Given the description of an element on the screen output the (x, y) to click on. 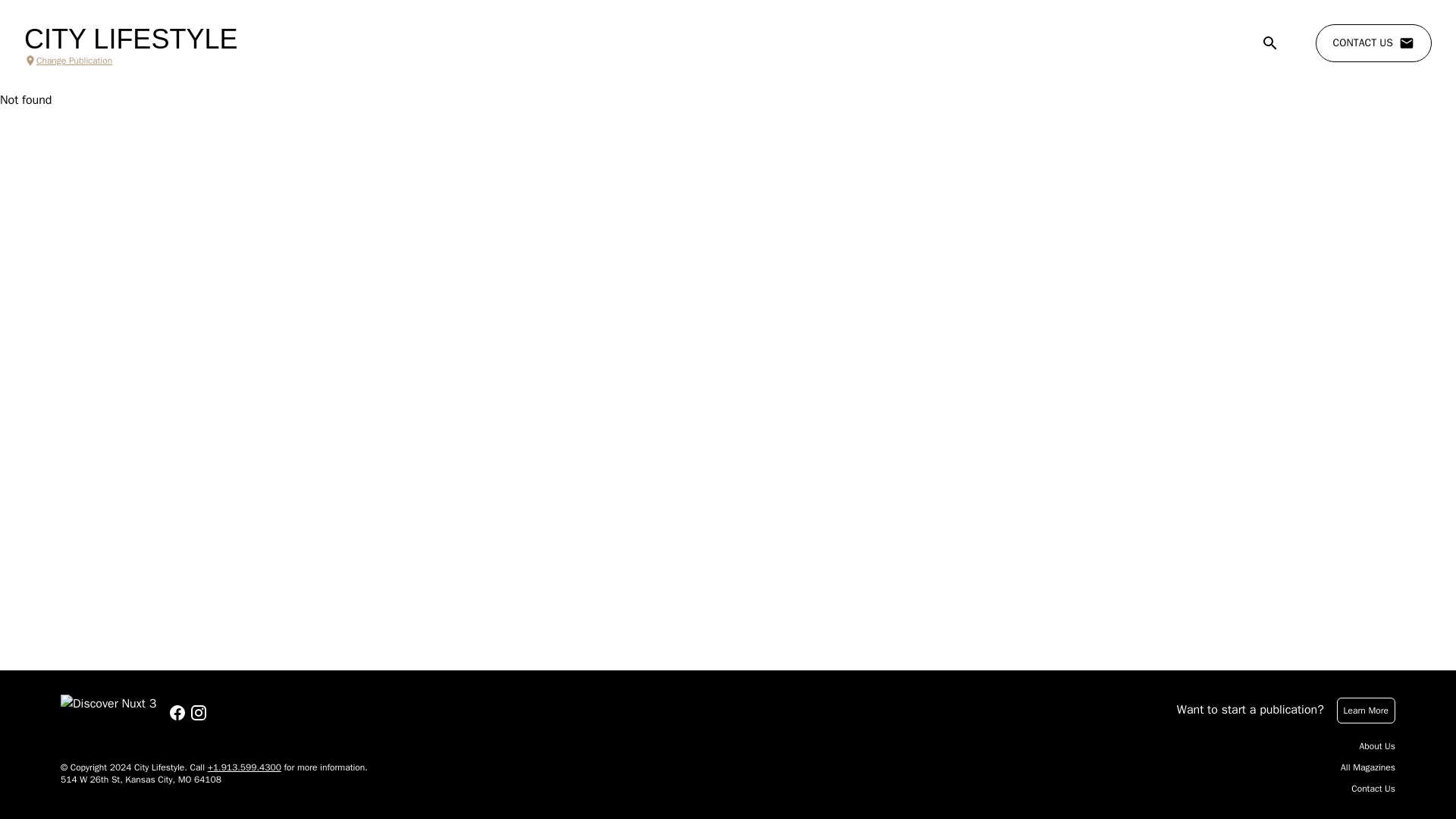
All Magazines (1367, 767)
Contact Us (1372, 788)
Learn More (1365, 710)
Change Publication (130, 60)
CONTACT US (1373, 43)
CITY LIFESTYLE (130, 39)
About Us (1376, 746)
